Given the description of an element on the screen output the (x, y) to click on. 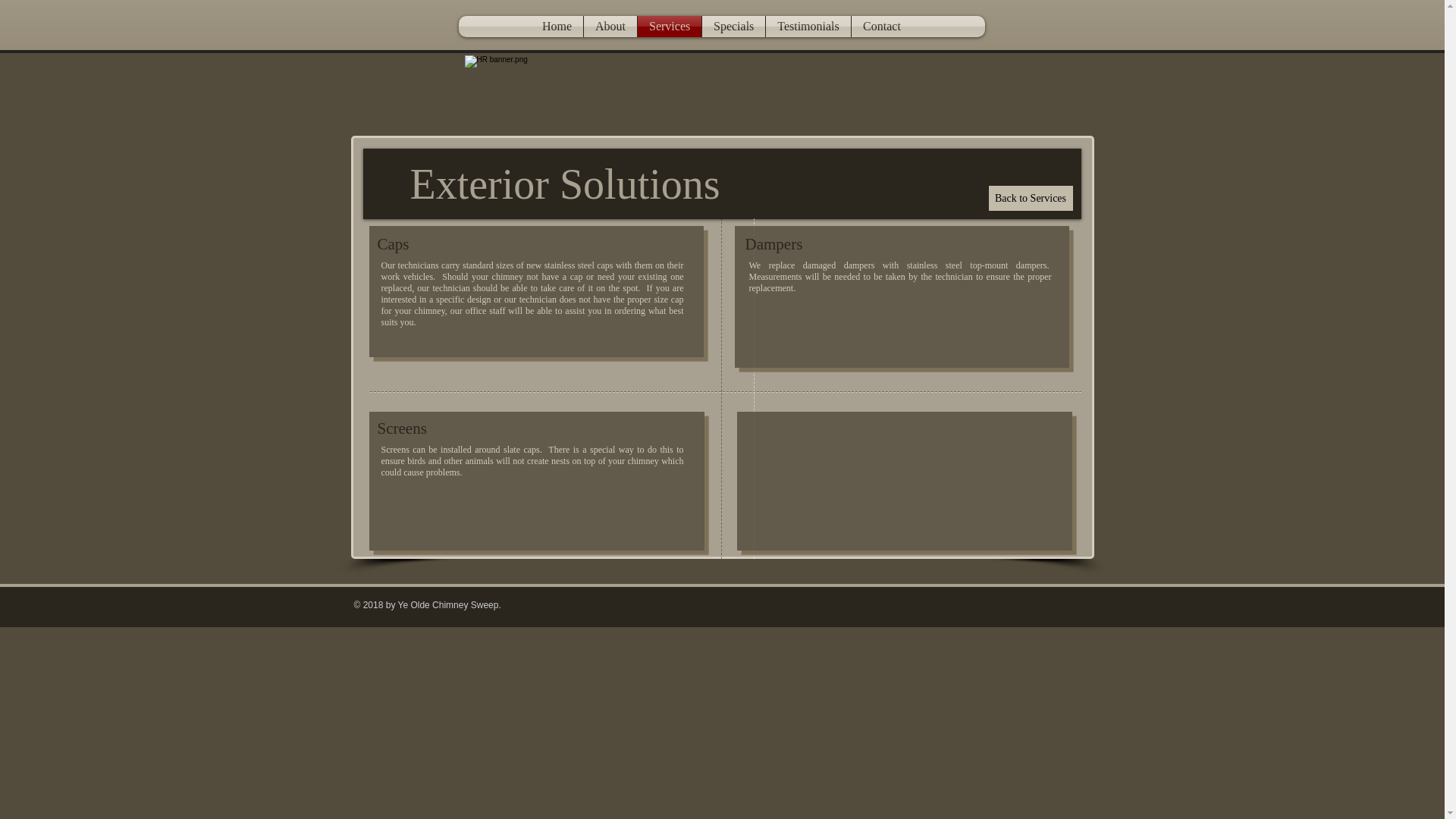
Contact (881, 25)
Back to Services (1030, 197)
Specials (733, 25)
Testimonials (807, 25)
Home (557, 25)
About (610, 25)
Services (669, 25)
